Given the description of an element on the screen output the (x, y) to click on. 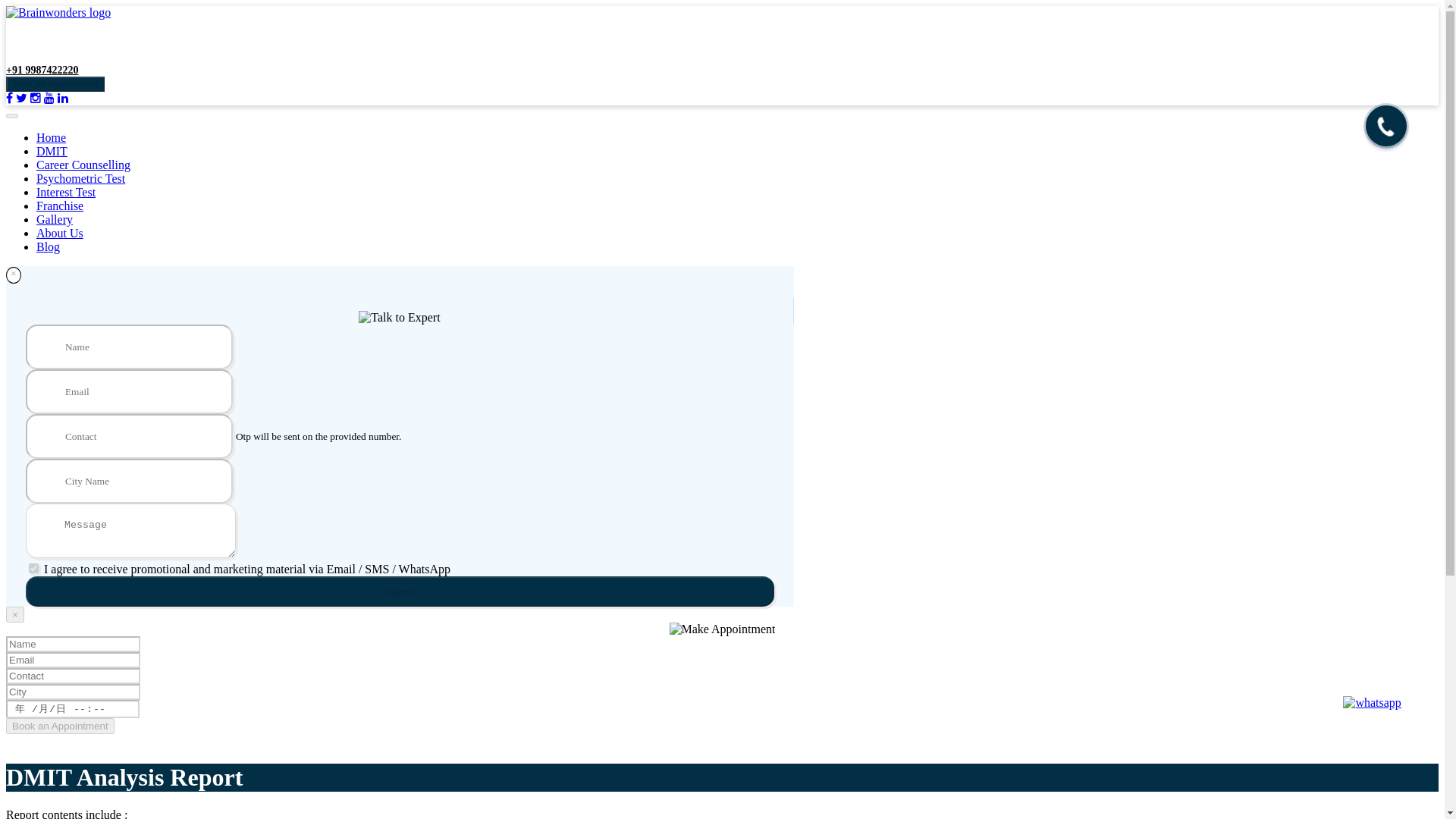
Submit (400, 591)
Gallery (54, 219)
Submit (400, 591)
About Us (59, 232)
Yss (34, 568)
Book an Appointment (54, 83)
Franchise (59, 205)
Psychometric Test (80, 178)
Blog (47, 246)
DMIT (51, 151)
Home (50, 137)
Book an Appointment (60, 725)
Career Counselling (83, 164)
Interest Test (66, 192)
Book an Appointment (60, 725)
